Given the description of an element on the screen output the (x, y) to click on. 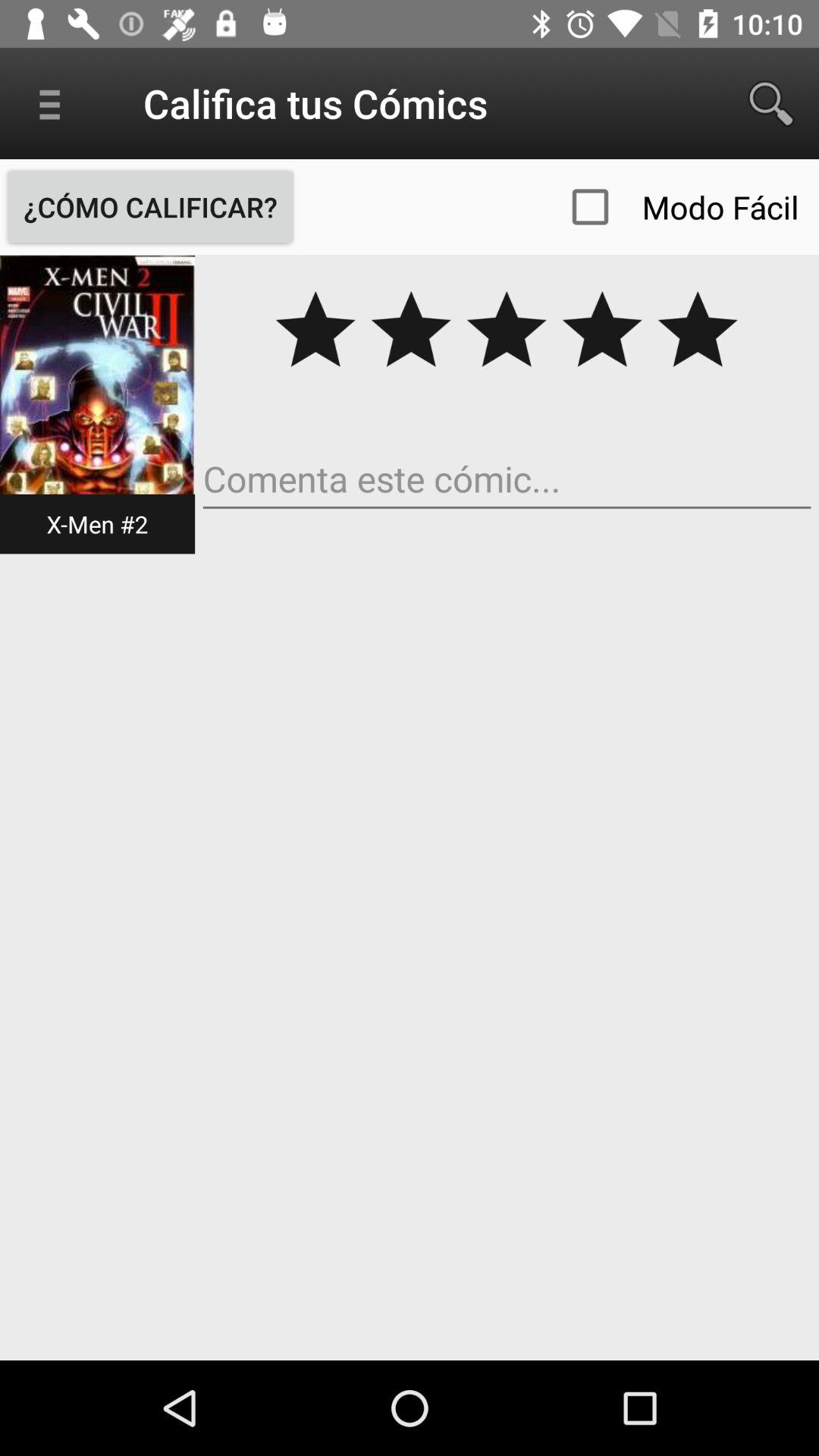
screenshot of xmen civilwar2 (97, 403)
